Given the description of an element on the screen output the (x, y) to click on. 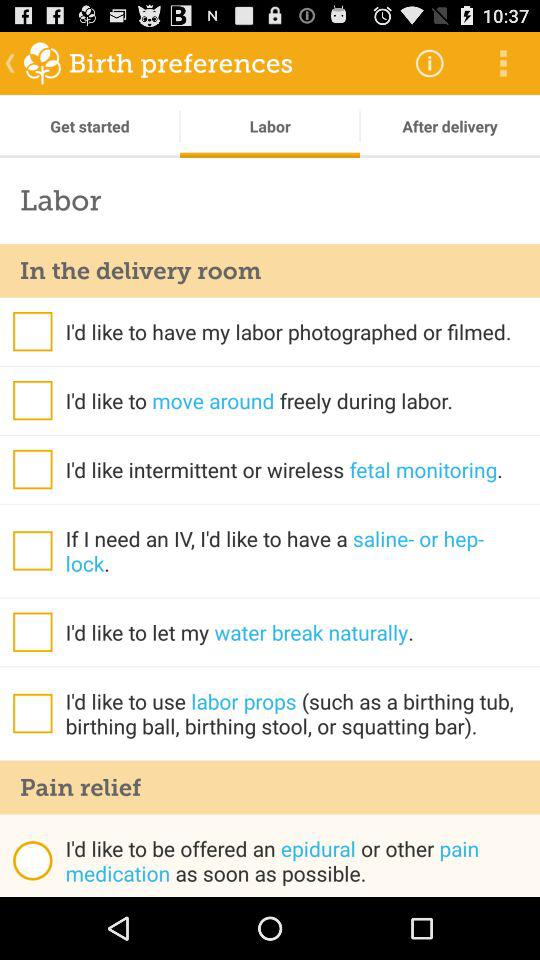
flip to the get started icon (90, 125)
